Given the description of an element on the screen output the (x, y) to click on. 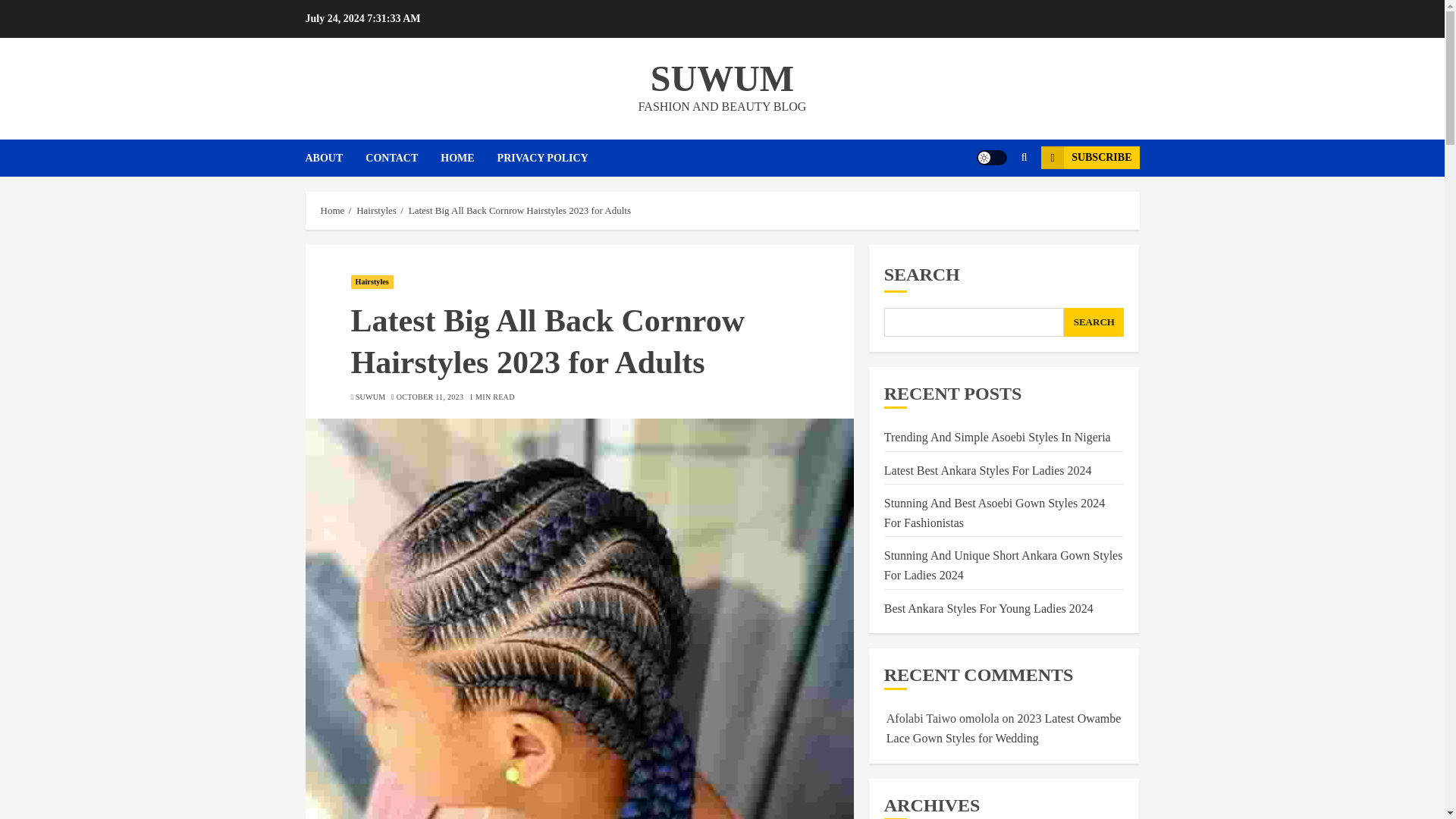
Home (331, 210)
SUWUM (370, 397)
Latest Big All Back Cornrow Hairstyles 2023 for Adults (519, 210)
Hairstyles (376, 210)
Hairstyles (371, 282)
ABOUT (334, 157)
SUBSCRIBE (1089, 157)
HOME (468, 157)
PRIVACY POLICY (542, 157)
CONTACT (403, 157)
Search (994, 203)
SUWUM (721, 78)
OCTOBER 11, 2023 (429, 397)
